Given the description of an element on the screen output the (x, y) to click on. 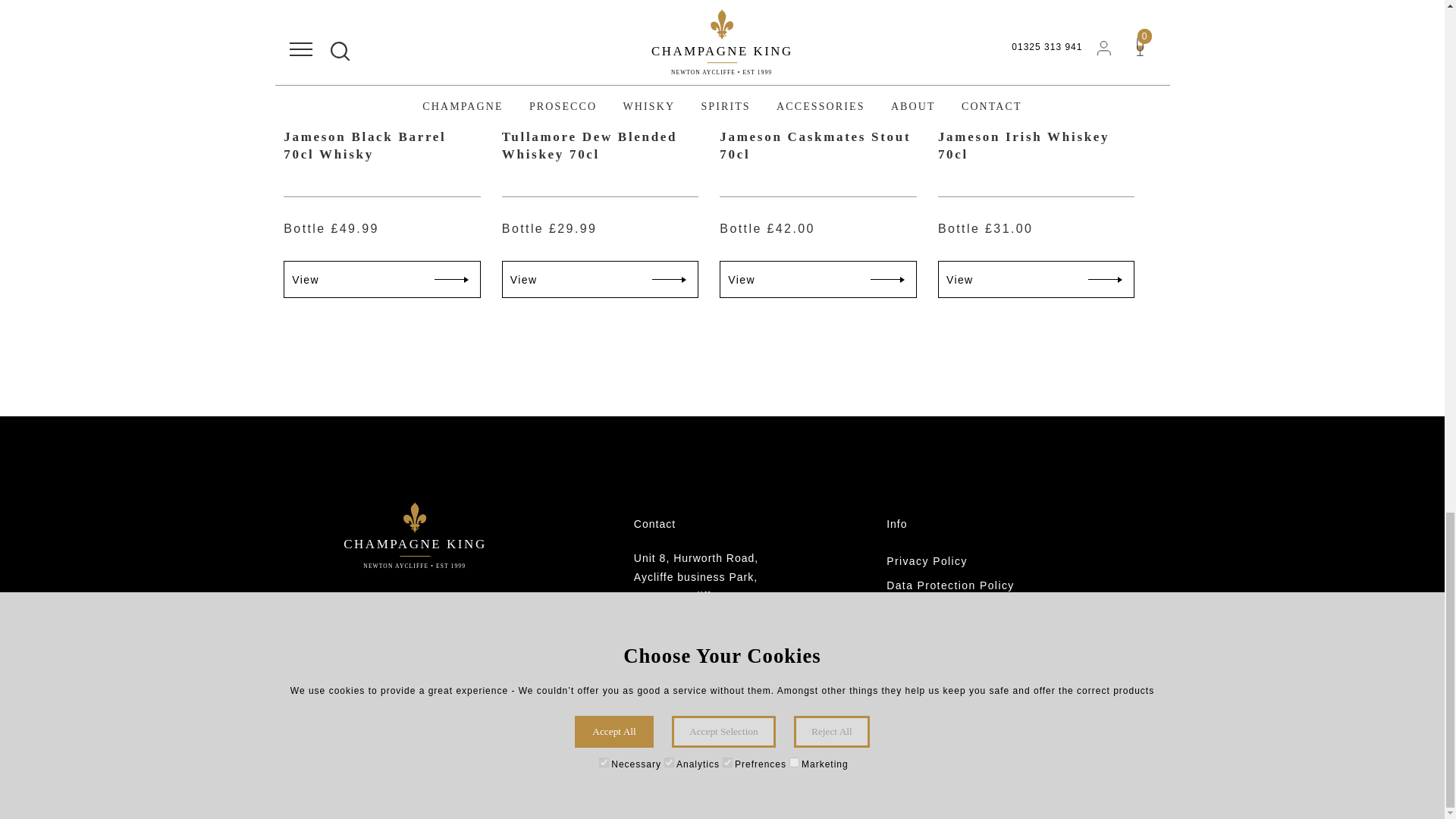
Privacy Policy (974, 560)
Delivery (974, 658)
Track Order (974, 682)
Cookies Policy (974, 609)
Data Protection Policy (974, 585)
Terms and Conditions (974, 633)
Sitemap (974, 730)
Contact Us (974, 706)
